Given the description of an element on the screen output the (x, y) to click on. 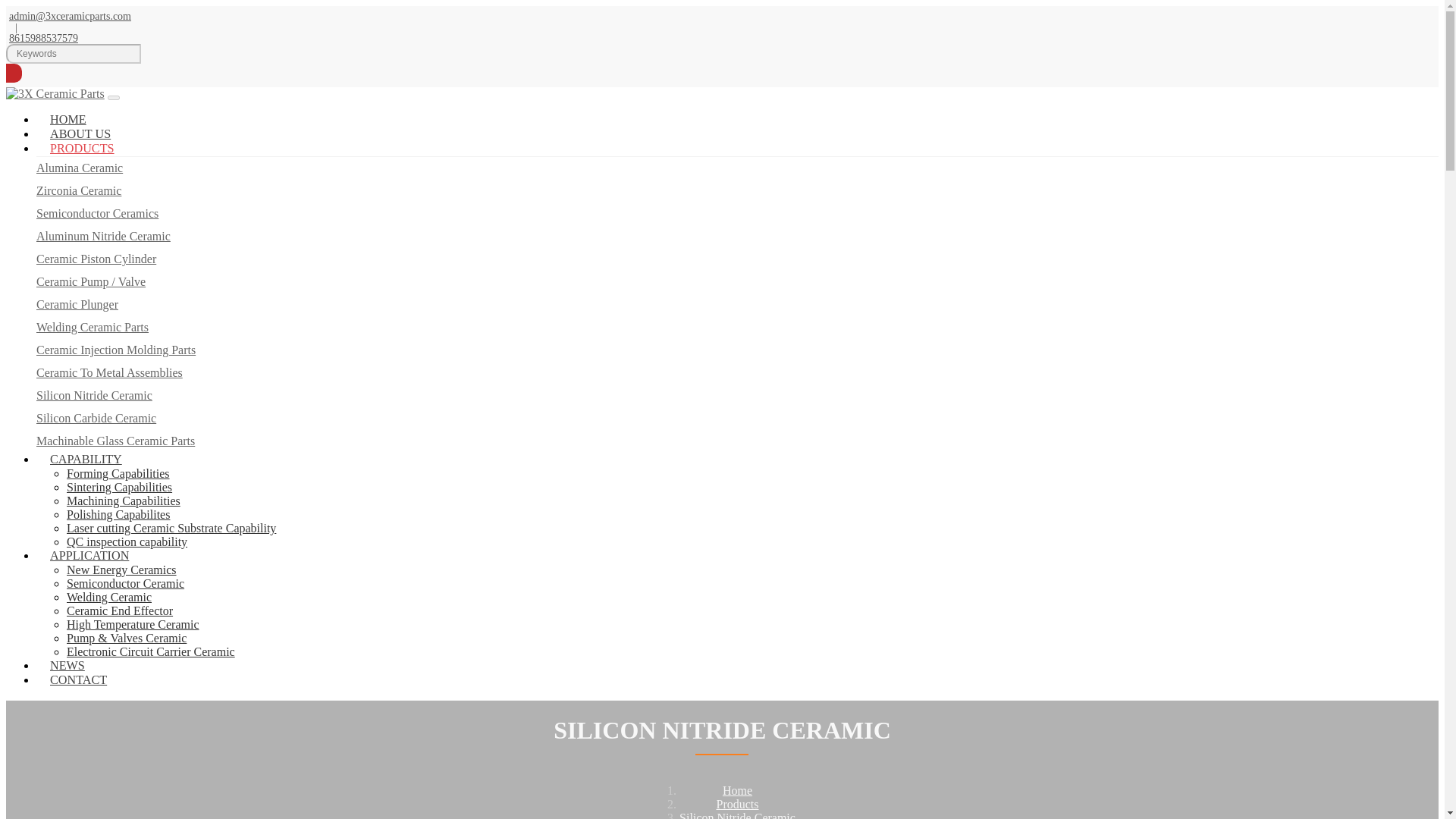
Zirconia Ceramic (78, 190)
Silicon Nitride Ceramic (94, 395)
QC inspection capability (126, 541)
Machinable Glass Ceramic Parts (115, 440)
APPLICATION (89, 555)
New Energy Ceramics (121, 569)
HOME (68, 119)
Ceramic Injection Molding Parts (115, 349)
ABOUT US (79, 134)
Forming Capabilities (118, 472)
